Given the description of an element on the screen output the (x, y) to click on. 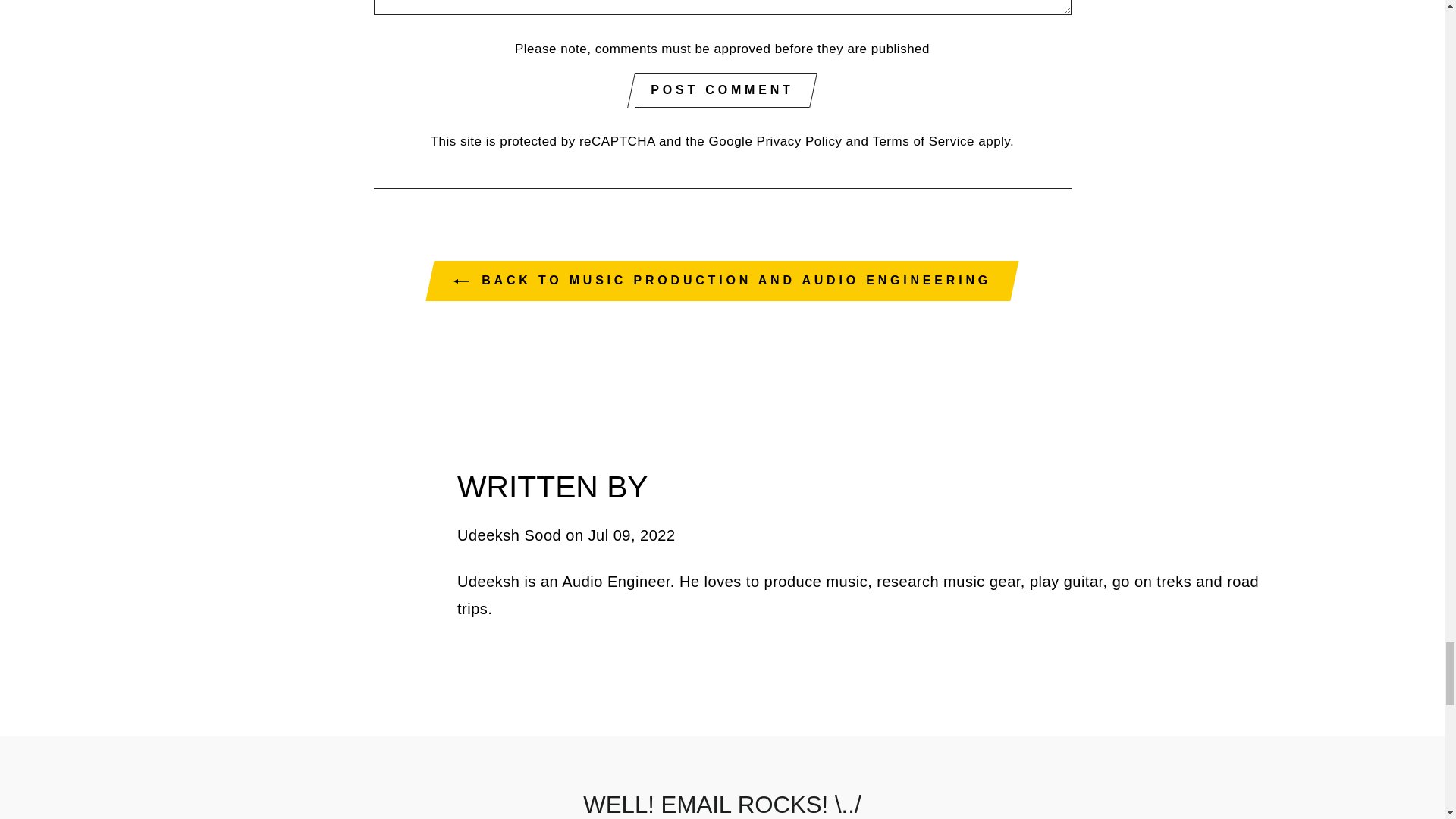
Terms of Service (923, 141)
Privacy Policy (800, 141)
POST COMMENT (721, 90)
BACK TO MUSIC PRODUCTION AND AUDIO ENGINEERING (721, 281)
